Given the description of an element on the screen output the (x, y) to click on. 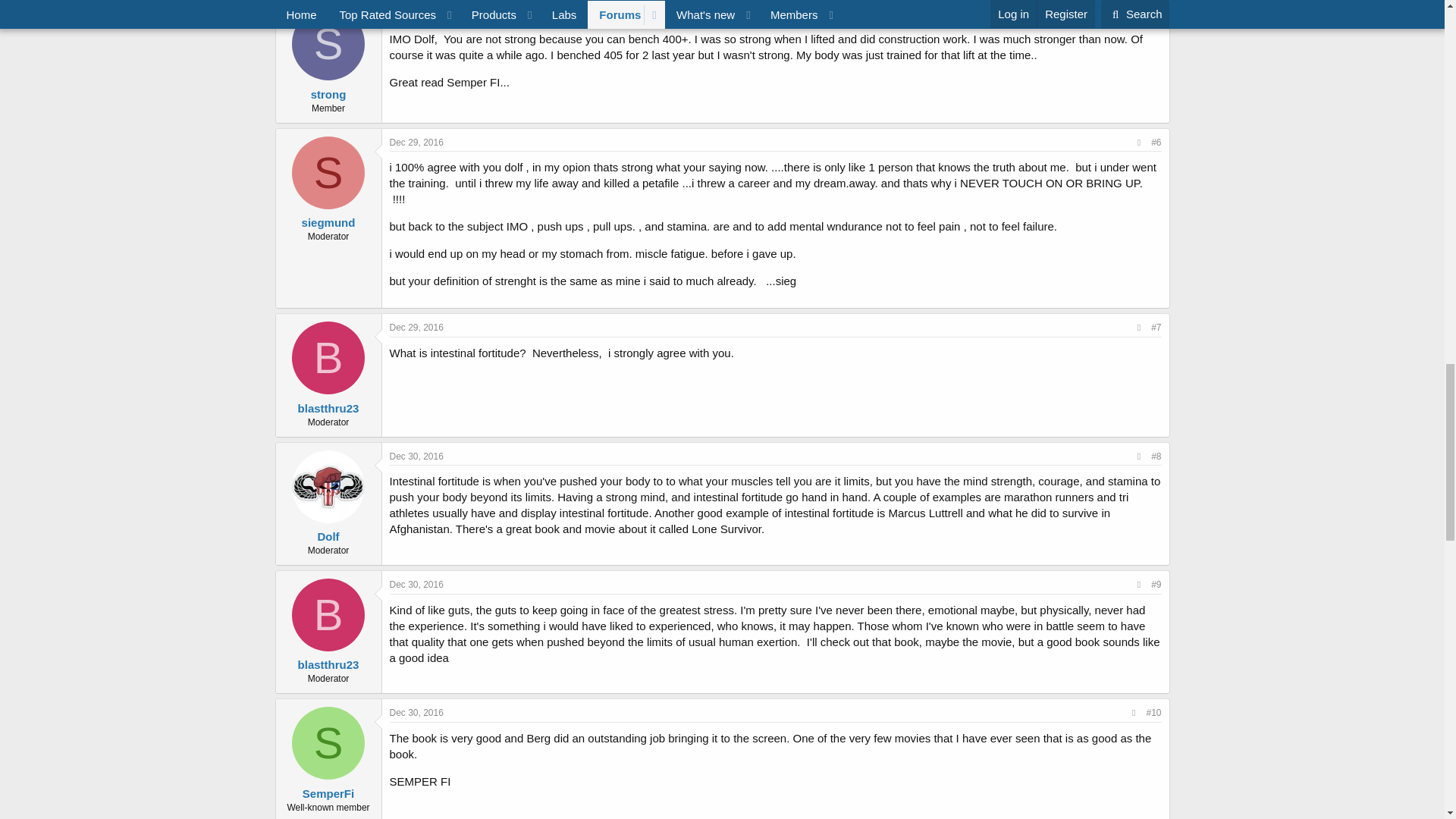
Dec 30, 2016 at 1:54 AM (417, 584)
Dec 30, 2016 at 12:07 AM (417, 456)
Dec 29, 2016 at 9:14 PM (417, 13)
Dec 30, 2016 at 3:00 AM (417, 712)
Dec 29, 2016 at 10:33 PM (417, 327)
Dec 29, 2016 at 10:05 PM (417, 142)
